Given the description of an element on the screen output the (x, y) to click on. 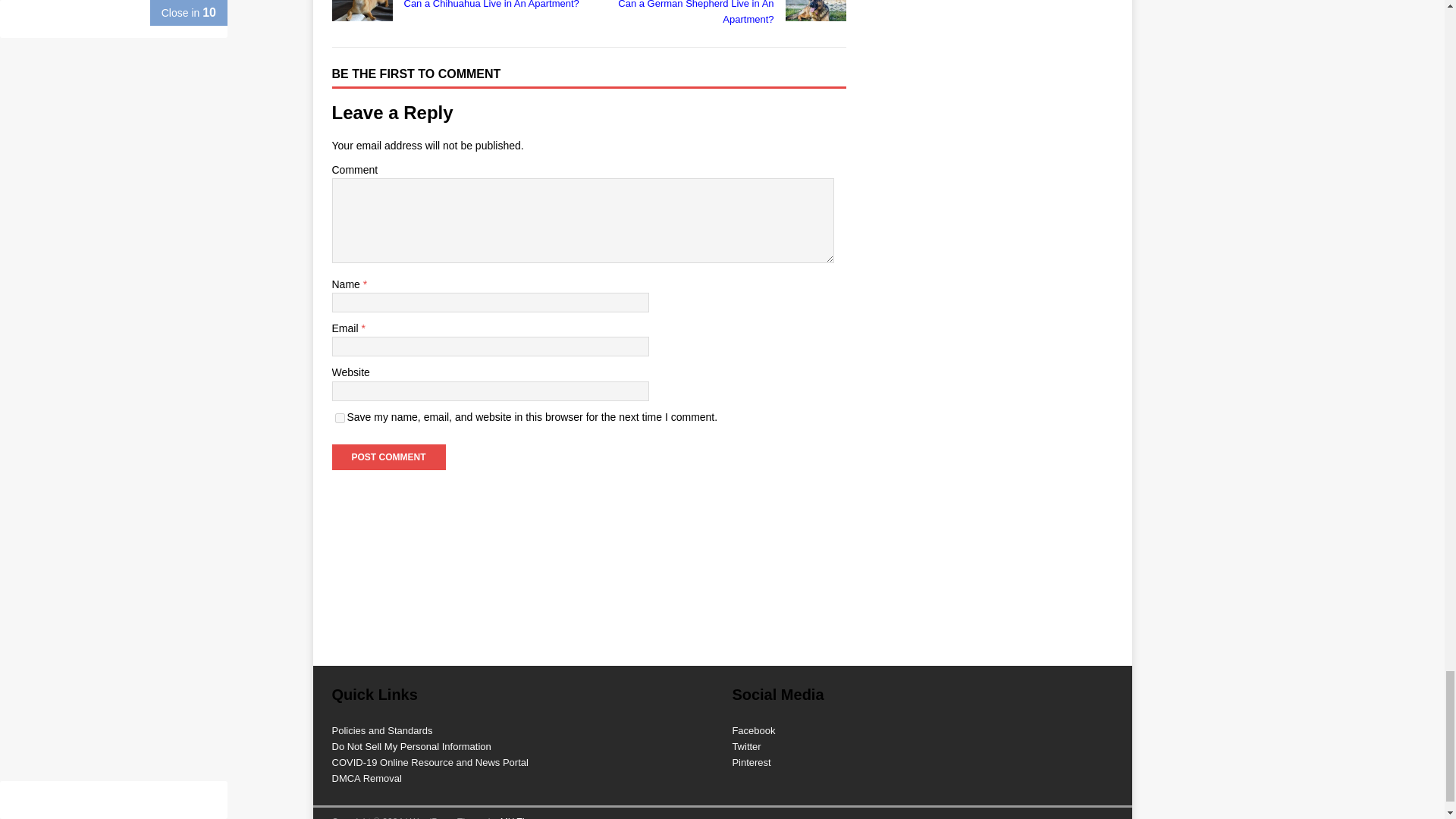
Post Comment (720, 13)
Post Comment (388, 457)
yes (457, 6)
